Given the description of an element on the screen output the (x, y) to click on. 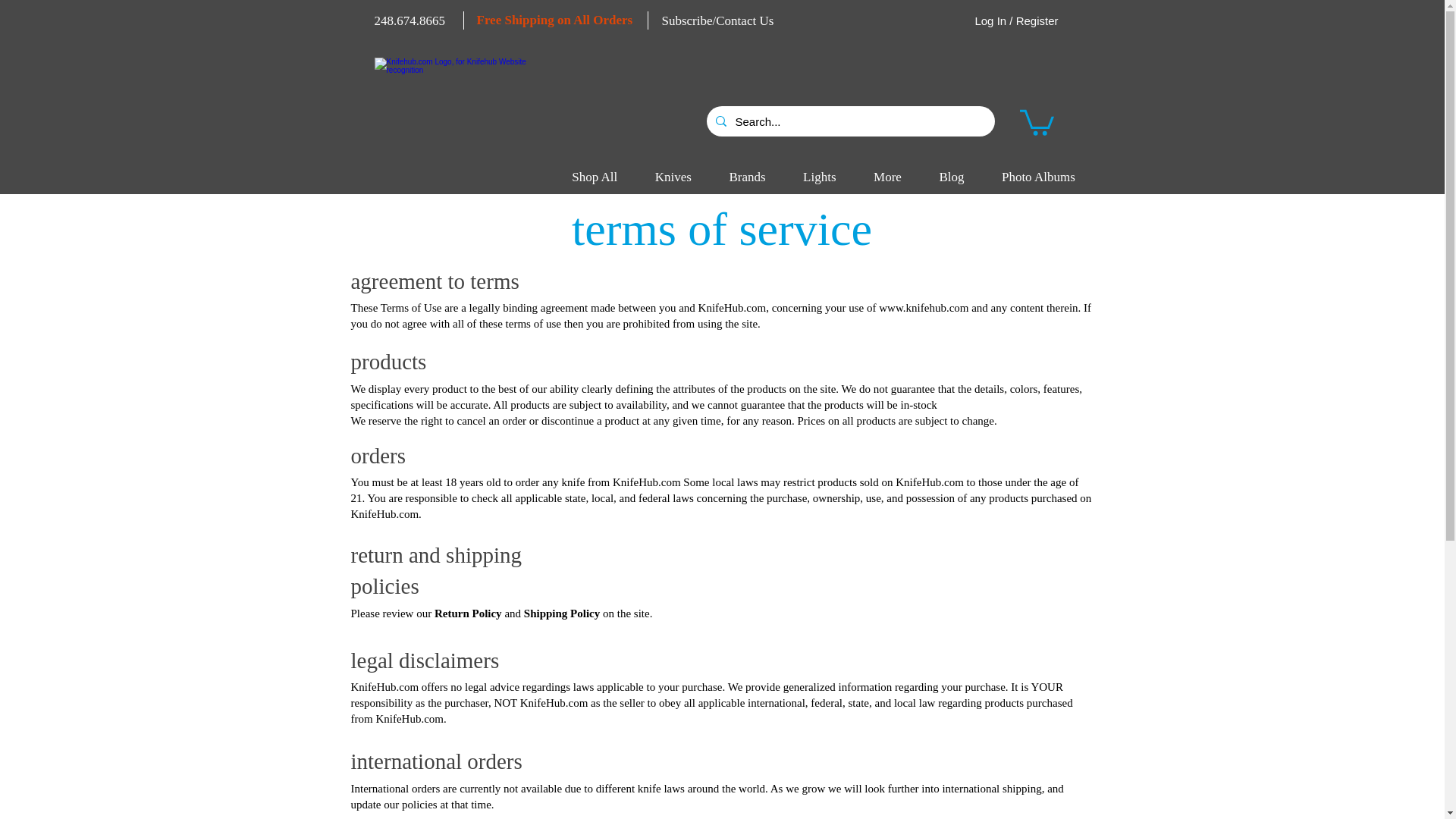
Shop All (595, 177)
